Given the description of an element on the screen output the (x, y) to click on. 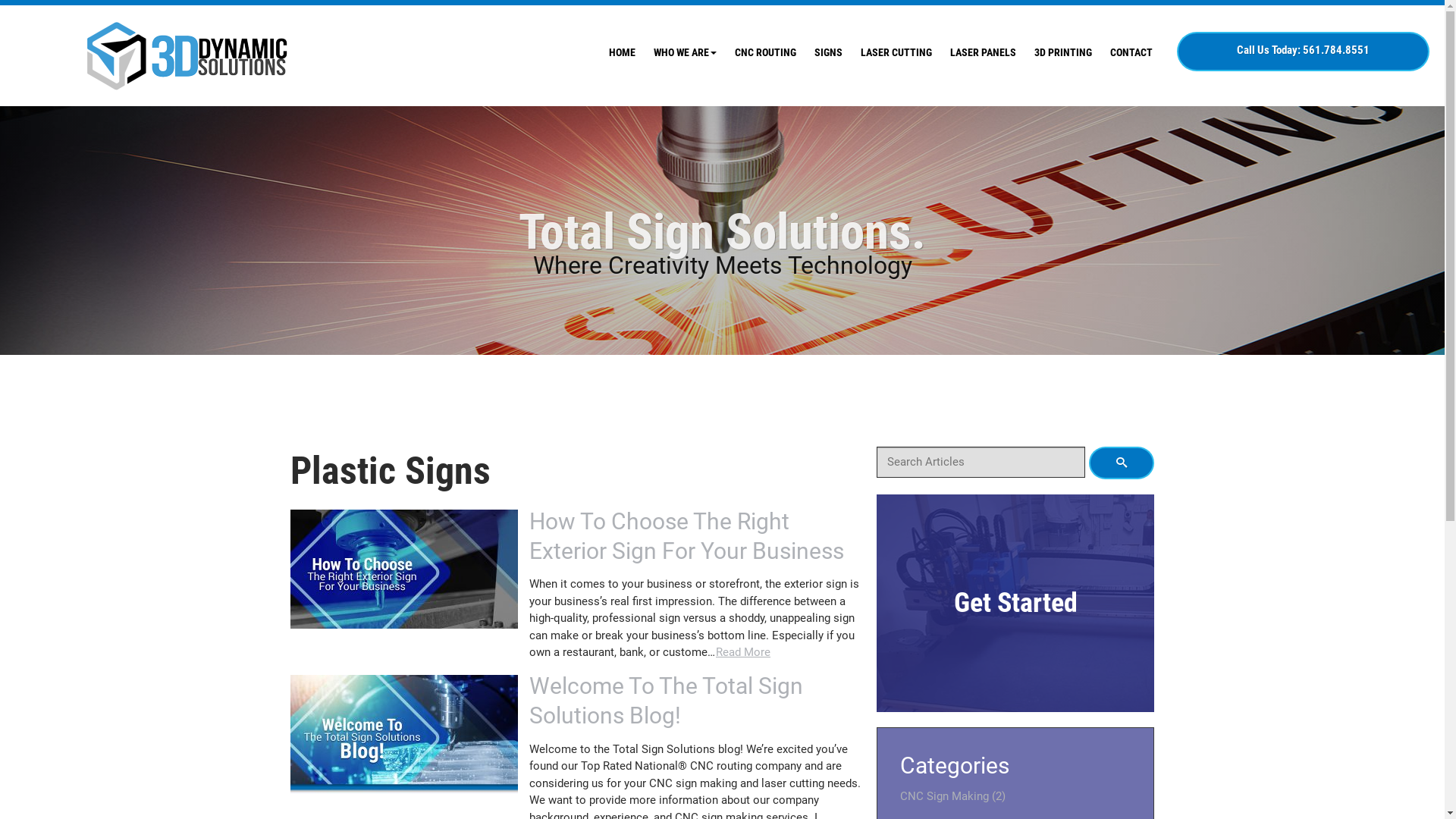
CONTACT Element type: text (1131, 52)
Welcome To The Total Sign Solutions Blog! Element type: text (666, 700)
Permanent Link to Full Post Element type: hover (403, 733)
CNC ROUTING Element type: text (765, 52)
How To Choose The Right Exterior Sign For Your Business Element type: text (686, 536)
Get Started Element type: text (1015, 603)
Read More Element type: text (742, 652)
LASER CUTTING Element type: text (896, 52)
SIGNS Element type: text (828, 52)
HOME Element type: text (621, 52)
Permanent Link to Full Post Element type: hover (403, 567)
Search Element type: text (1121, 462)
CNC Sign Making Element type: text (944, 796)
WHO WE ARE Element type: text (684, 52)
3D PRINTING Element type: text (1063, 52)
LASER PANELS Element type: text (983, 52)
Call Us Today: 561.784.8551 Element type: text (1302, 51)
